Given the description of an element on the screen output the (x, y) to click on. 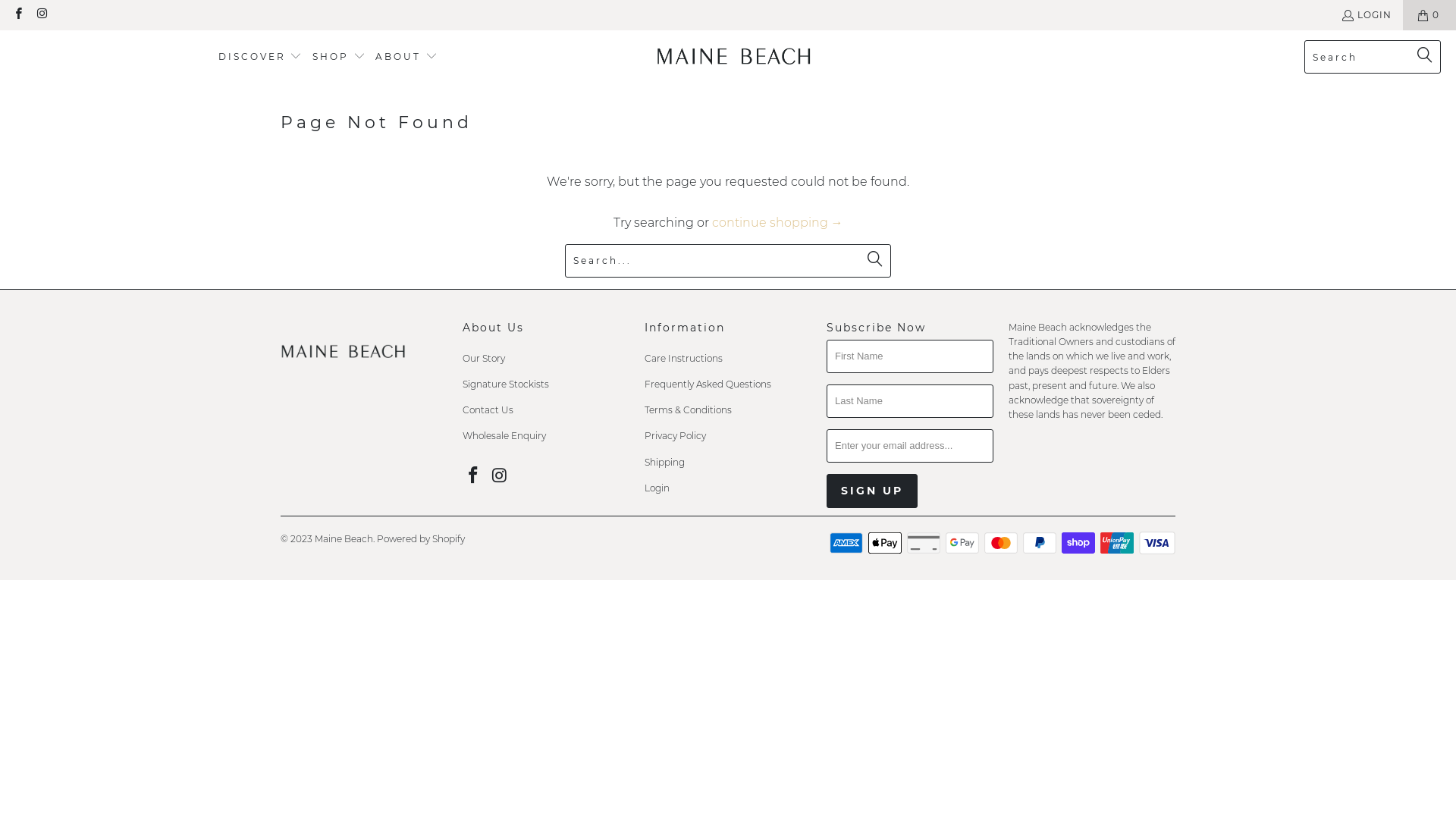
Maine Beach on Facebook Element type: hover (473, 476)
Privacy Policy Element type: text (675, 435)
Powered by Shopify Element type: text (420, 538)
Login Element type: text (656, 487)
Maine Beach Element type: hover (733, 56)
LOGIN Element type: text (1365, 15)
Shipping Element type: text (664, 461)
Care Instructions Element type: text (683, 358)
Wholesale Enquiry Element type: text (504, 435)
Frequently Asked Questions Element type: text (707, 383)
Maine Beach Element type: text (343, 538)
Terms & Conditions Element type: text (687, 409)
Signature Stockists Element type: text (505, 383)
Maine Beach on Instagram Element type: hover (40, 14)
Maine Beach on Instagram Element type: hover (500, 476)
Sign Up Element type: text (871, 490)
Our Story Element type: text (483, 358)
Contact Us Element type: text (487, 409)
Maine Beach on Facebook Element type: hover (17, 14)
